Given the description of an element on the screen output the (x, y) to click on. 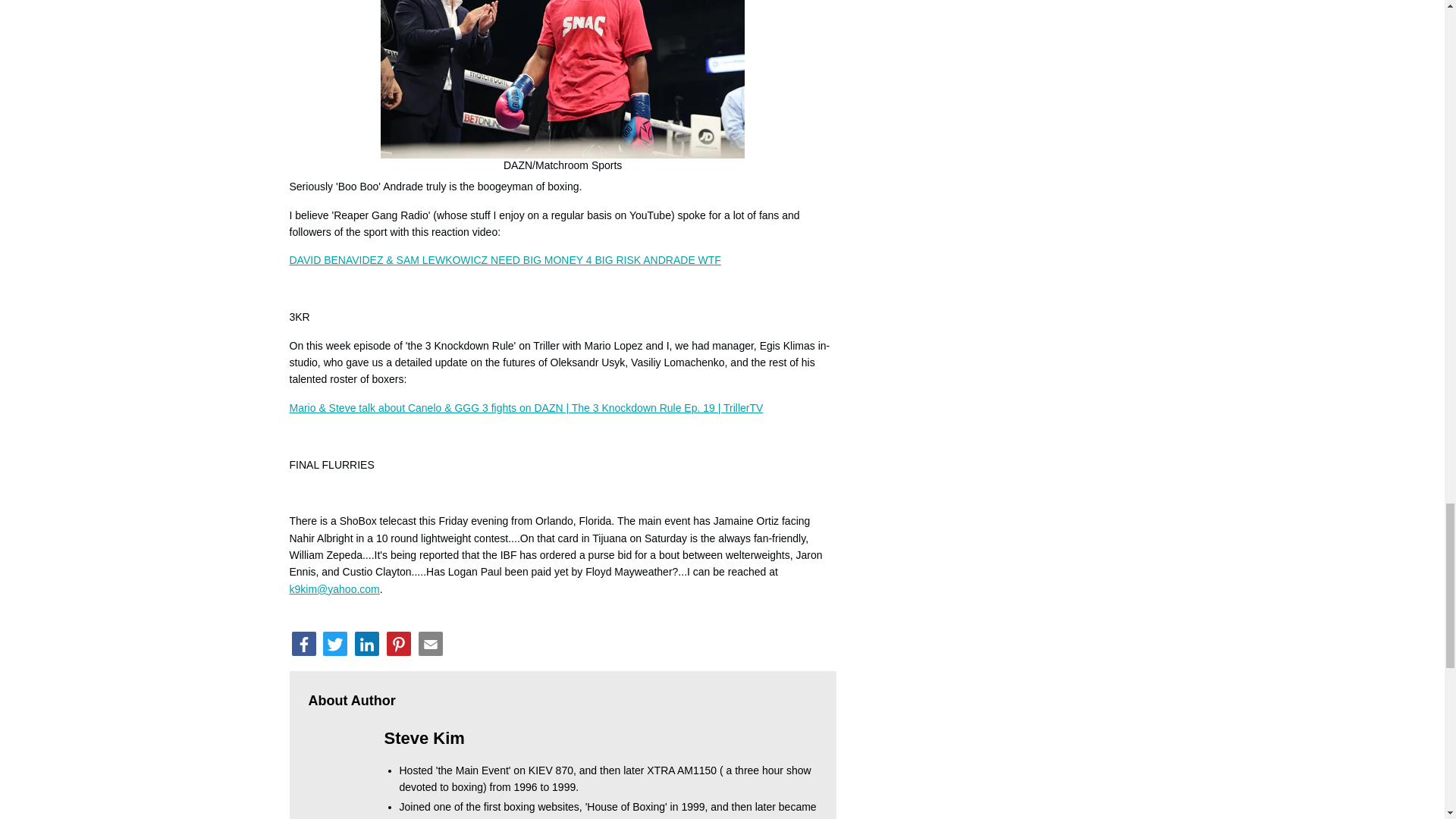
Linkedin (366, 643)
